Given the description of an element on the screen output the (x, y) to click on. 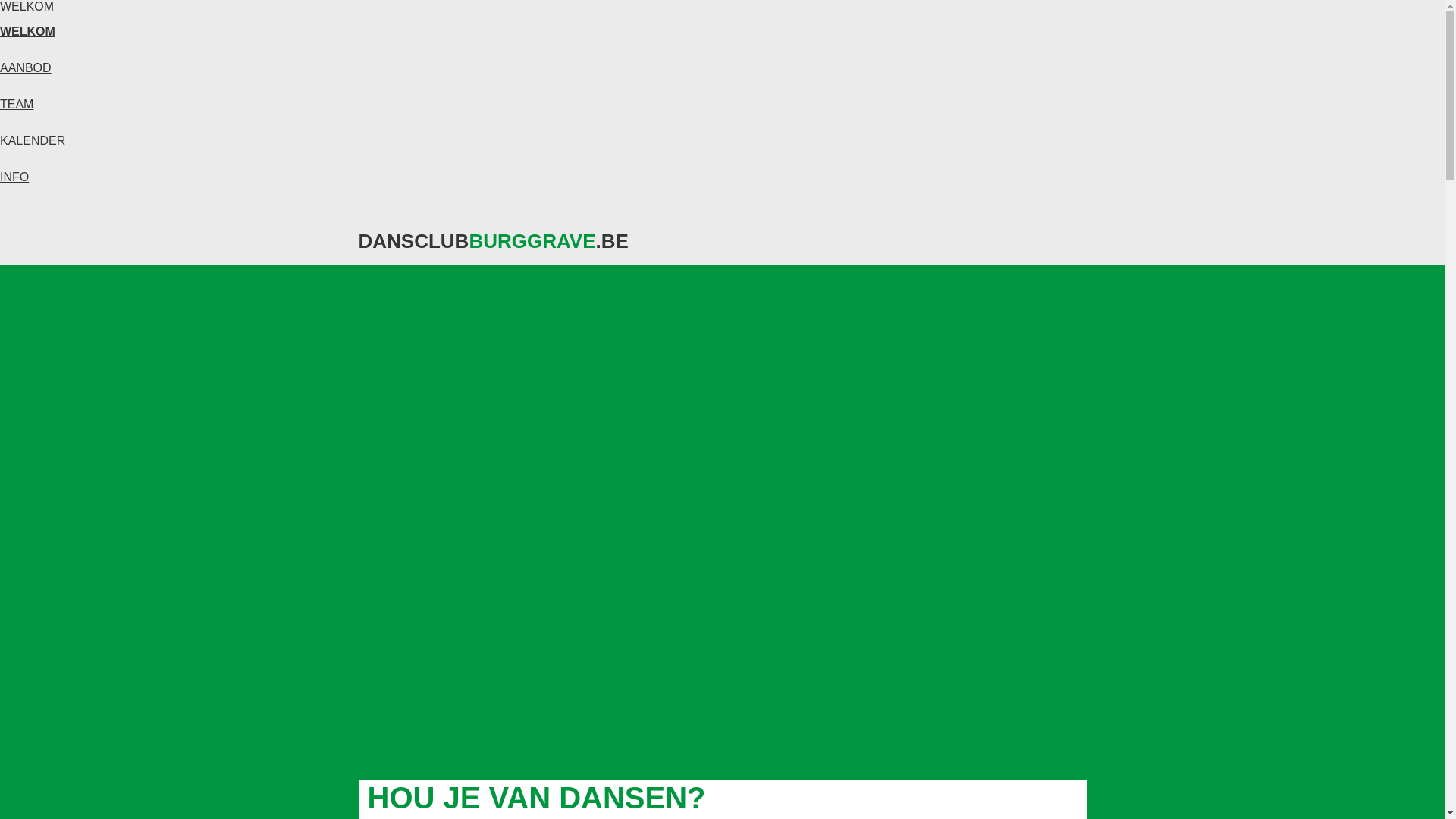
TEAM Element type: text (16, 103)
INFO Element type: text (14, 176)
WELKOM Element type: text (27, 31)
AANBOD Element type: text (25, 67)
KALENDER Element type: text (32, 140)
